Given the description of an element on the screen output the (x, y) to click on. 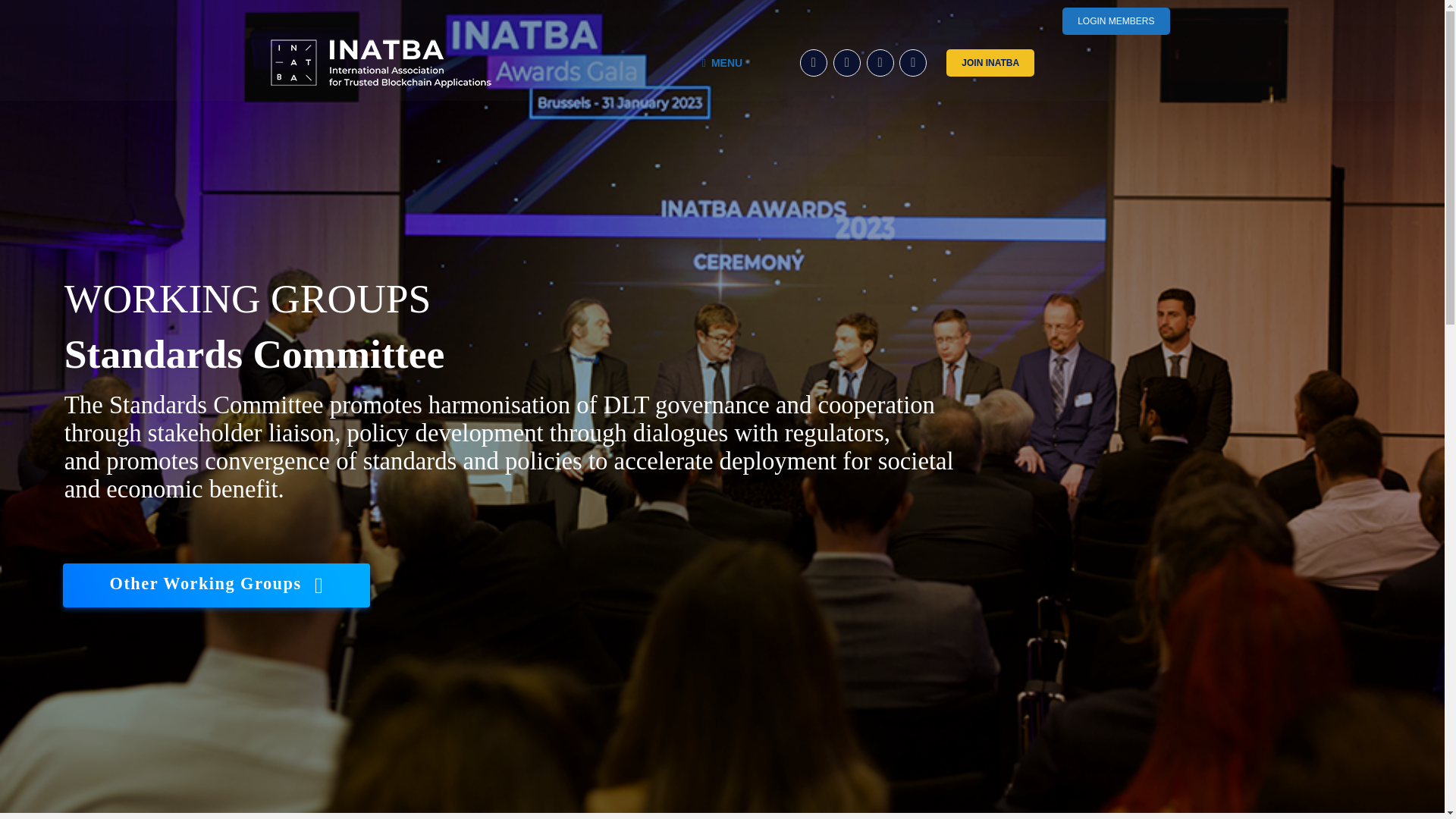
JOIN INATBA (989, 62)
MENU (721, 62)
LOGIN MEMBERS (1115, 21)
